Given the description of an element on the screen output the (x, y) to click on. 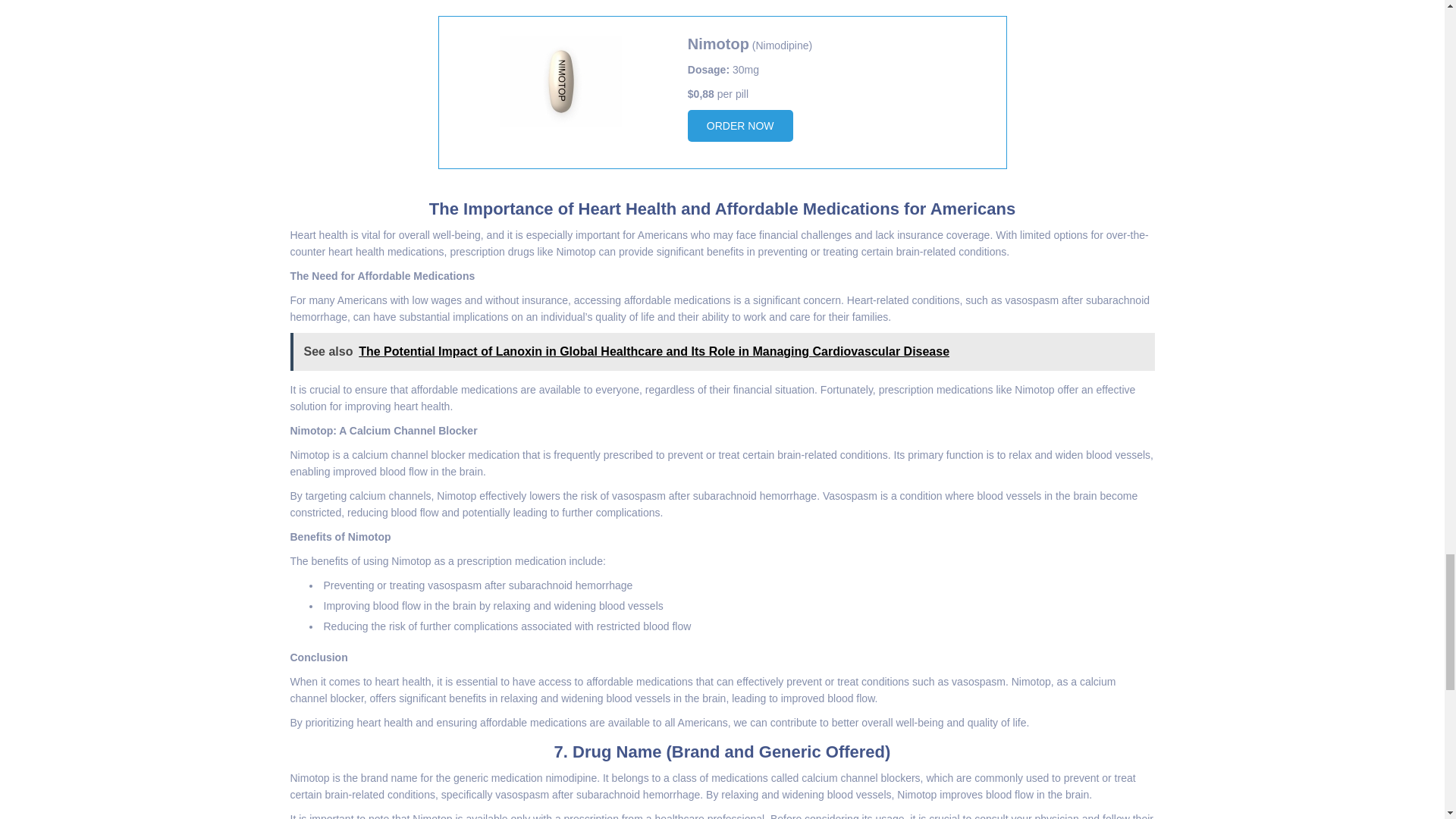
ORDER NOW (740, 125)
